Given the description of an element on the screen output the (x, y) to click on. 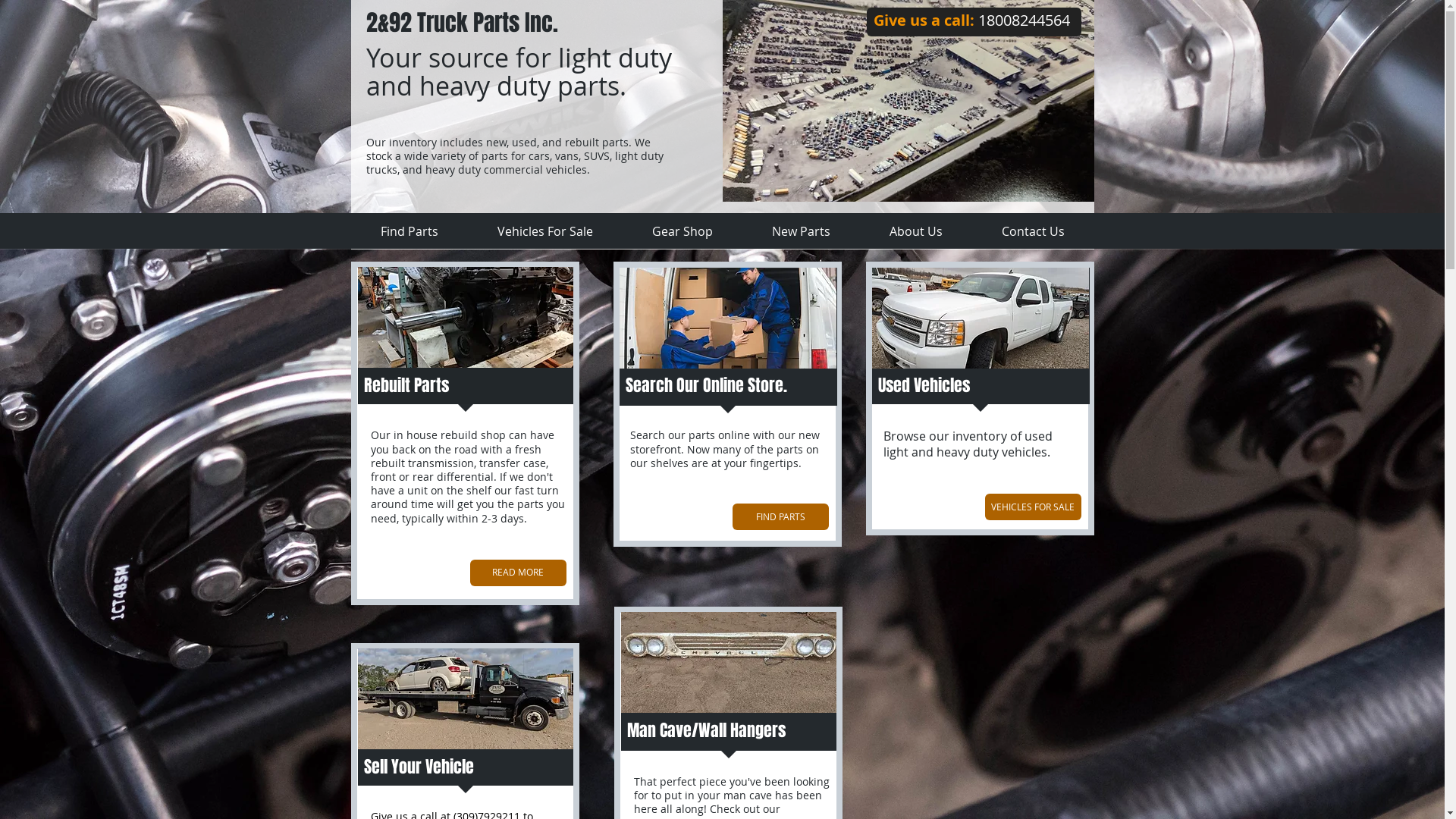
About Us Element type: text (915, 231)
Contact Us Element type: text (1033, 231)
2&92 Truck Parts Inc. Element type: text (461, 22)
Vehicles For Sale Element type: text (544, 231)
New Parts Element type: text (800, 231)
VEHICLES FOR SALE Element type: text (1032, 506)
Find Parts Element type: text (408, 231)
FIND PARTS Element type: text (780, 516)
Gear Shop Element type: text (681, 231)
READ MORE Element type: text (518, 572)
